Given the description of an element on the screen output the (x, y) to click on. 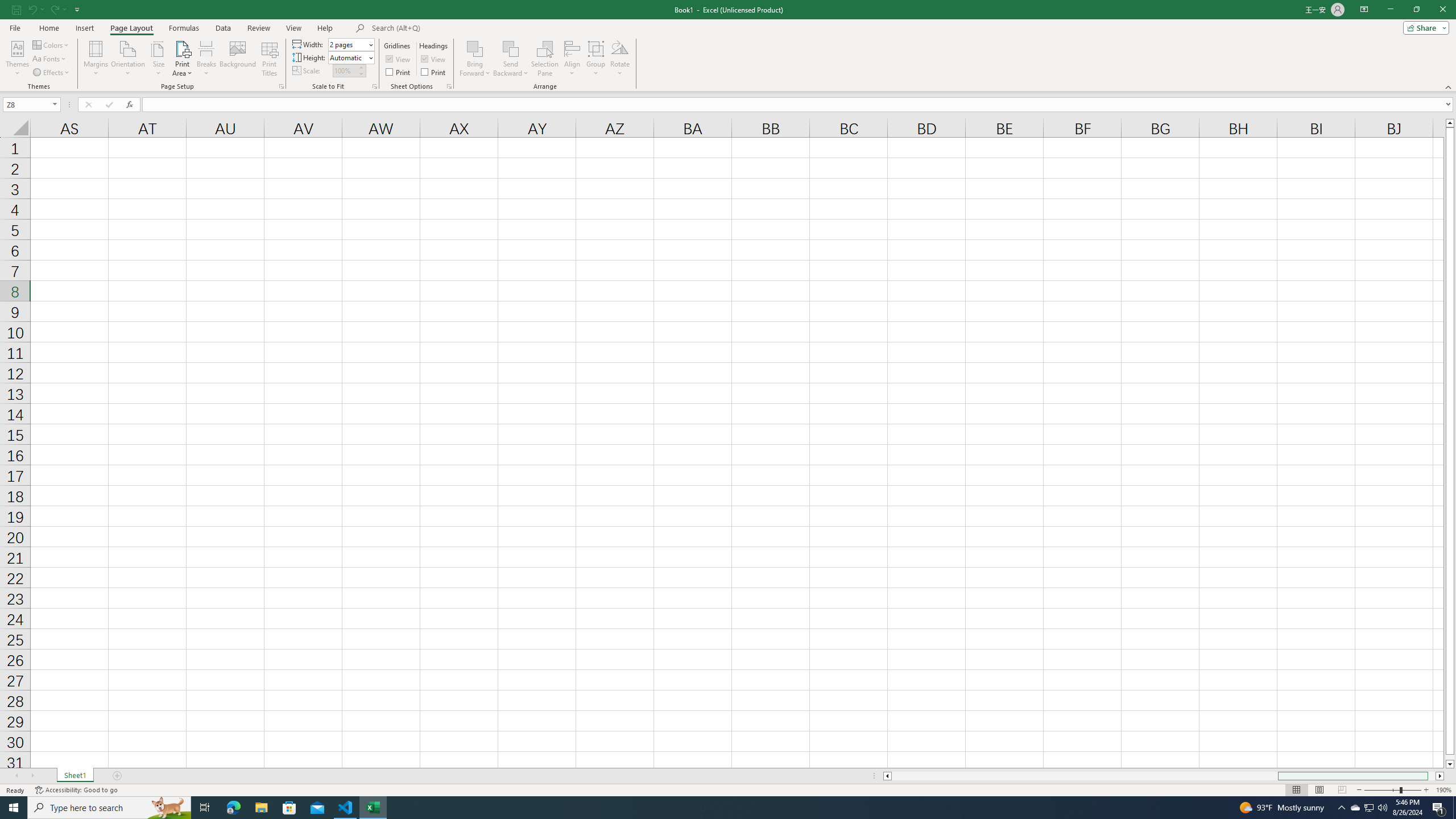
Column left (886, 775)
Data (223, 28)
Scroll Right (32, 775)
Bring Forward (475, 58)
Insert (83, 28)
Height (350, 56)
Margins (95, 58)
Page Layout (131, 28)
Bring Forward (475, 48)
Help (325, 28)
Zoom In (1426, 790)
Ribbon Display Options (1364, 9)
System (6, 6)
System (6, 6)
